Given the description of an element on the screen output the (x, y) to click on. 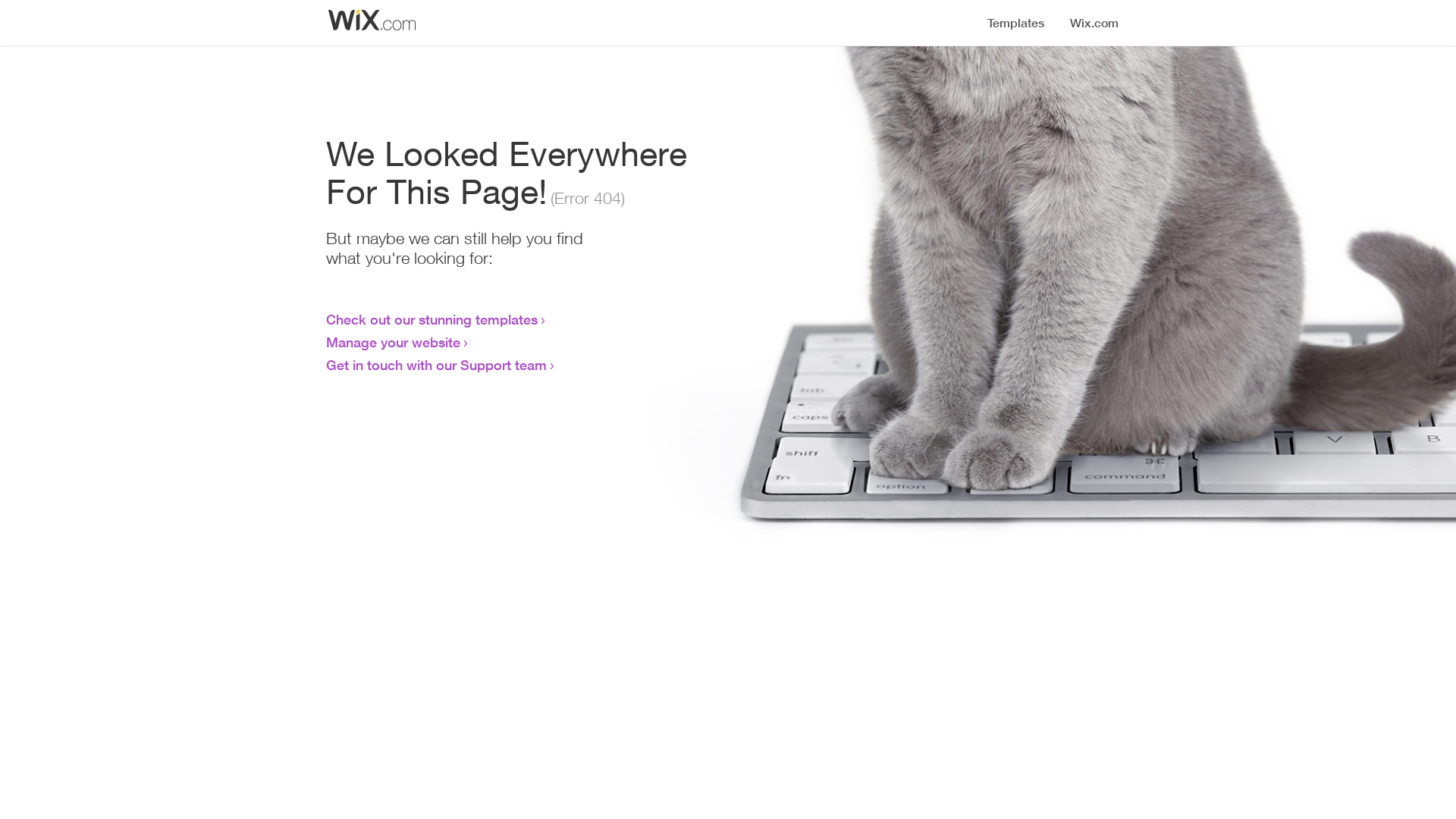
Check out our stunning templates Element type: text (431, 318)
Get in touch with our Support team Element type: text (436, 364)
Manage your website Element type: text (393, 341)
